Given the description of an element on the screen output the (x, y) to click on. 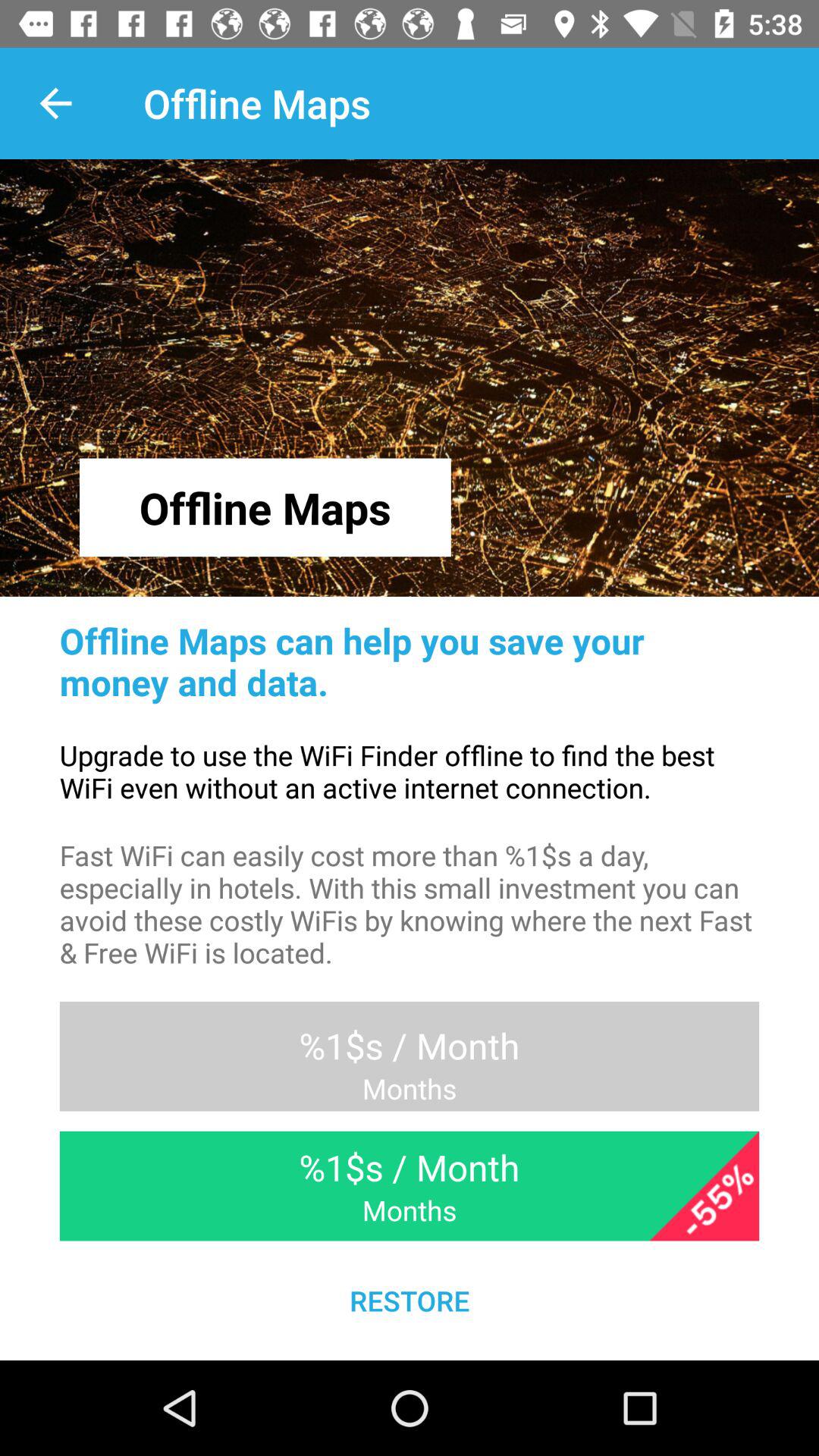
press item to the left of the offline maps item (55, 103)
